Given the description of an element on the screen output the (x, y) to click on. 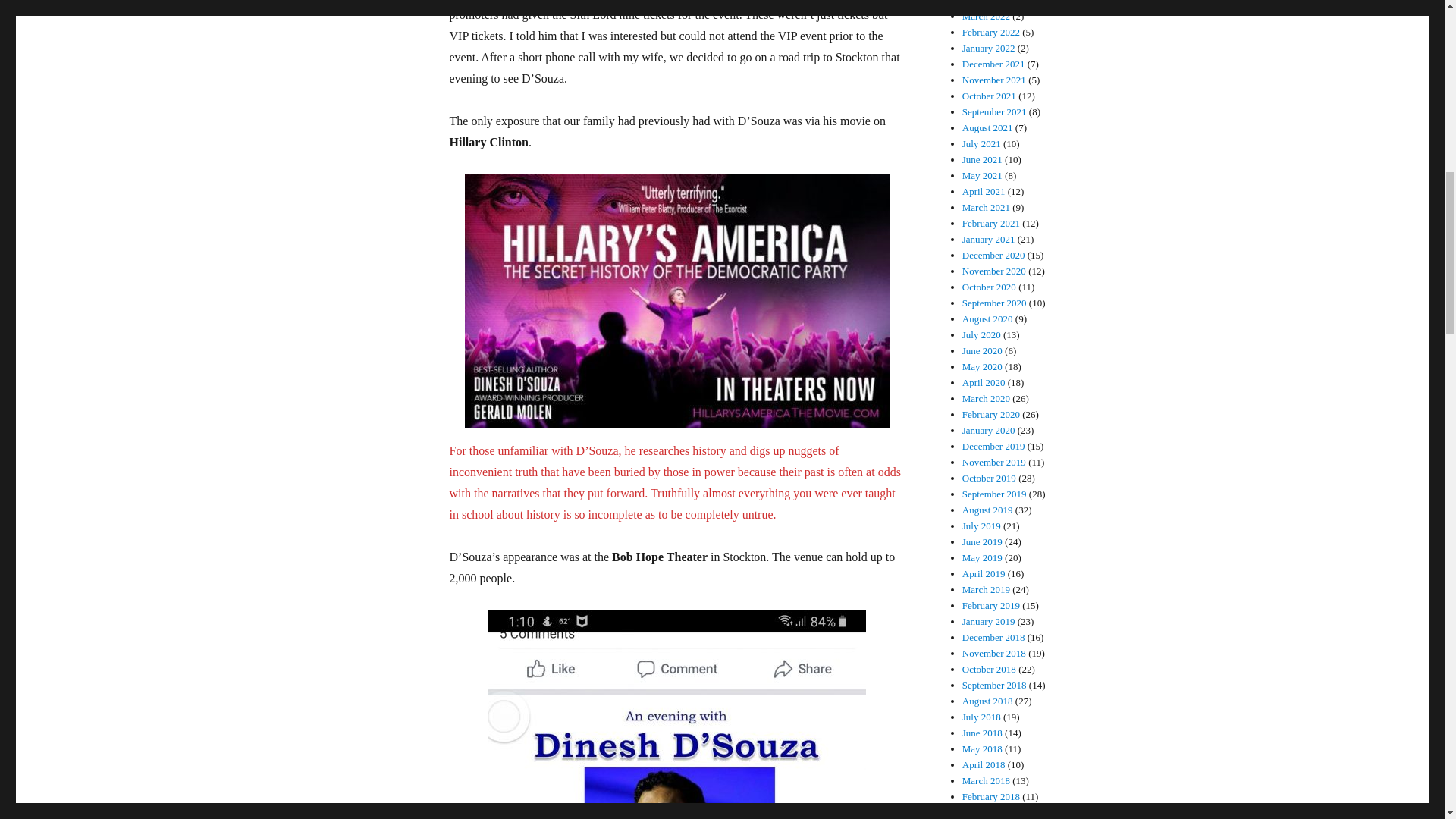
February 2022 (991, 31)
April 2022 (984, 2)
March 2022 (986, 16)
January 2022 (988, 48)
December 2021 (993, 63)
